Given the description of an element on the screen output the (x, y) to click on. 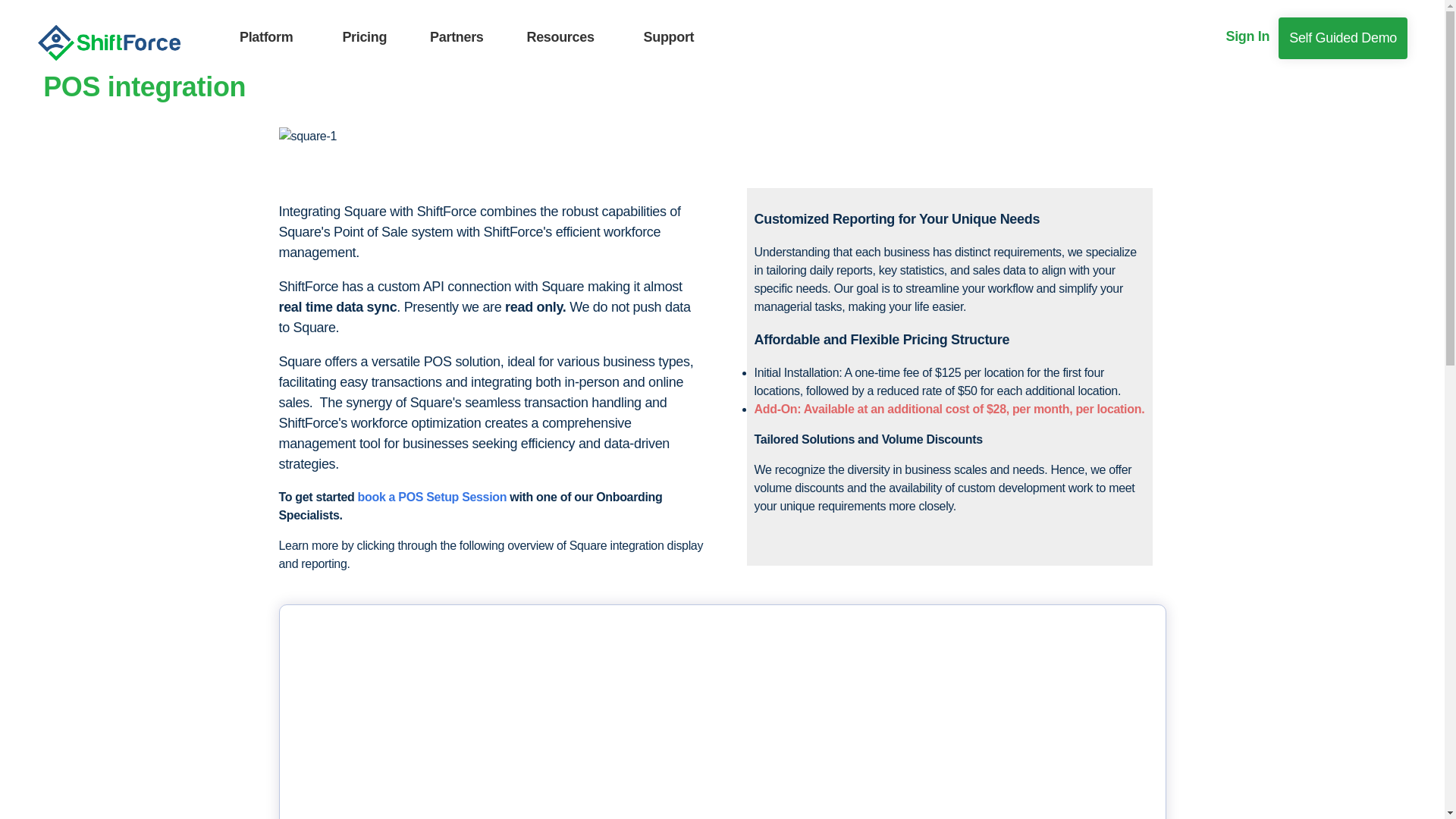
book a P (382, 496)
Support (668, 37)
OS Setup Session (456, 496)
Partners (456, 37)
Resources (562, 37)
Self Guided Demo (1342, 37)
Pricing (364, 37)
Support (668, 37)
Platform (269, 37)
Pricing (364, 37)
Sign In (1248, 36)
Partners (456, 37)
